Given the description of an element on the screen output the (x, y) to click on. 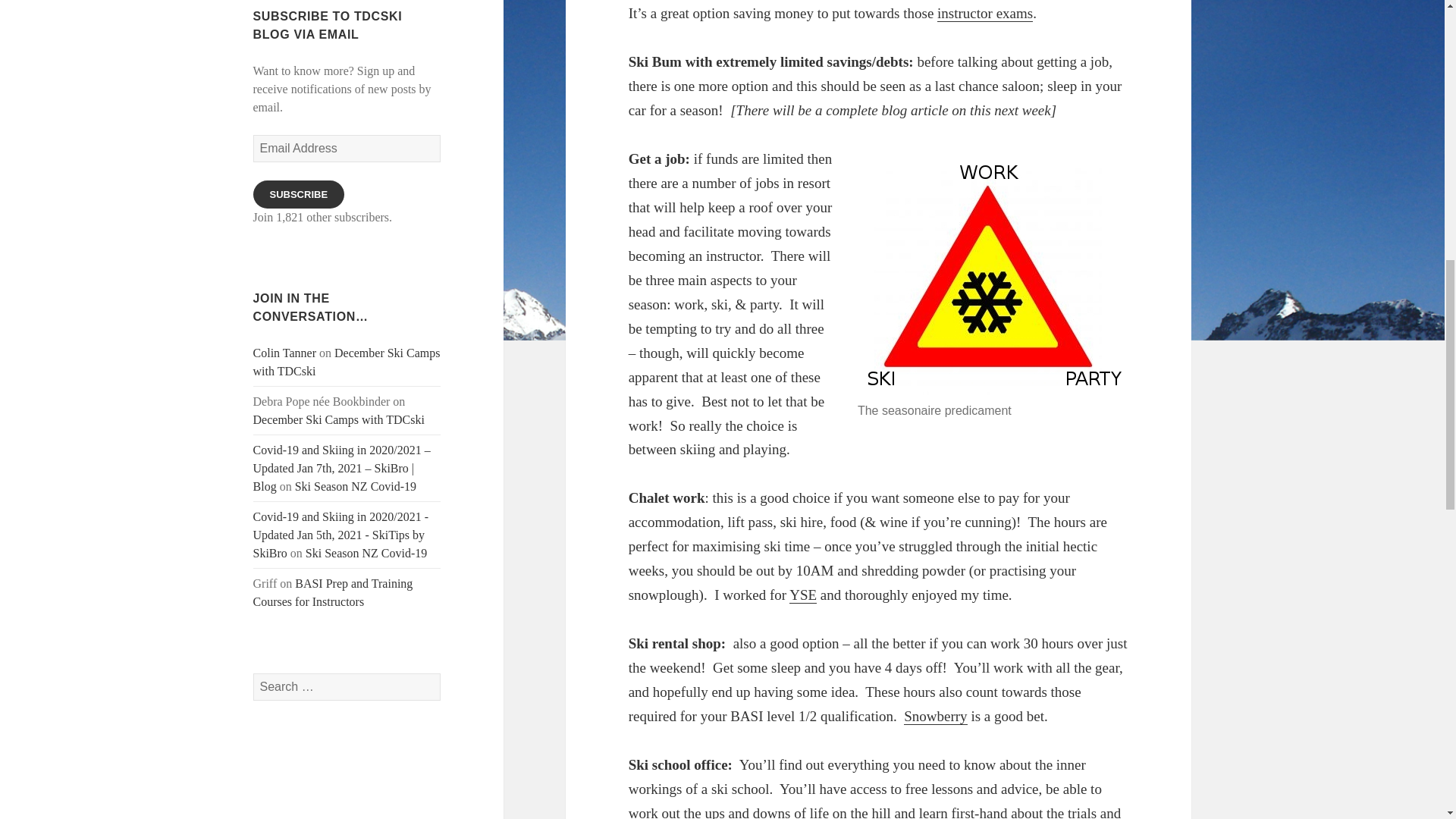
Snowberry (935, 716)
Ski Season NZ Covid-19 (365, 553)
SUBSCRIBE (299, 194)
BASI Ski Instructor Qualifications (984, 13)
December Ski Camps with TDCski (347, 361)
Snowberry ski shop (935, 716)
instructor exams (984, 13)
Ski Season NZ Covid-19 (355, 486)
December Ski Camps with TDCski (339, 419)
Colin Tanner (284, 352)
YSE (802, 595)
BASI Prep and Training Courses for Instructors (333, 592)
YSE Ski Holidays (802, 595)
